Given the description of an element on the screen output the (x, y) to click on. 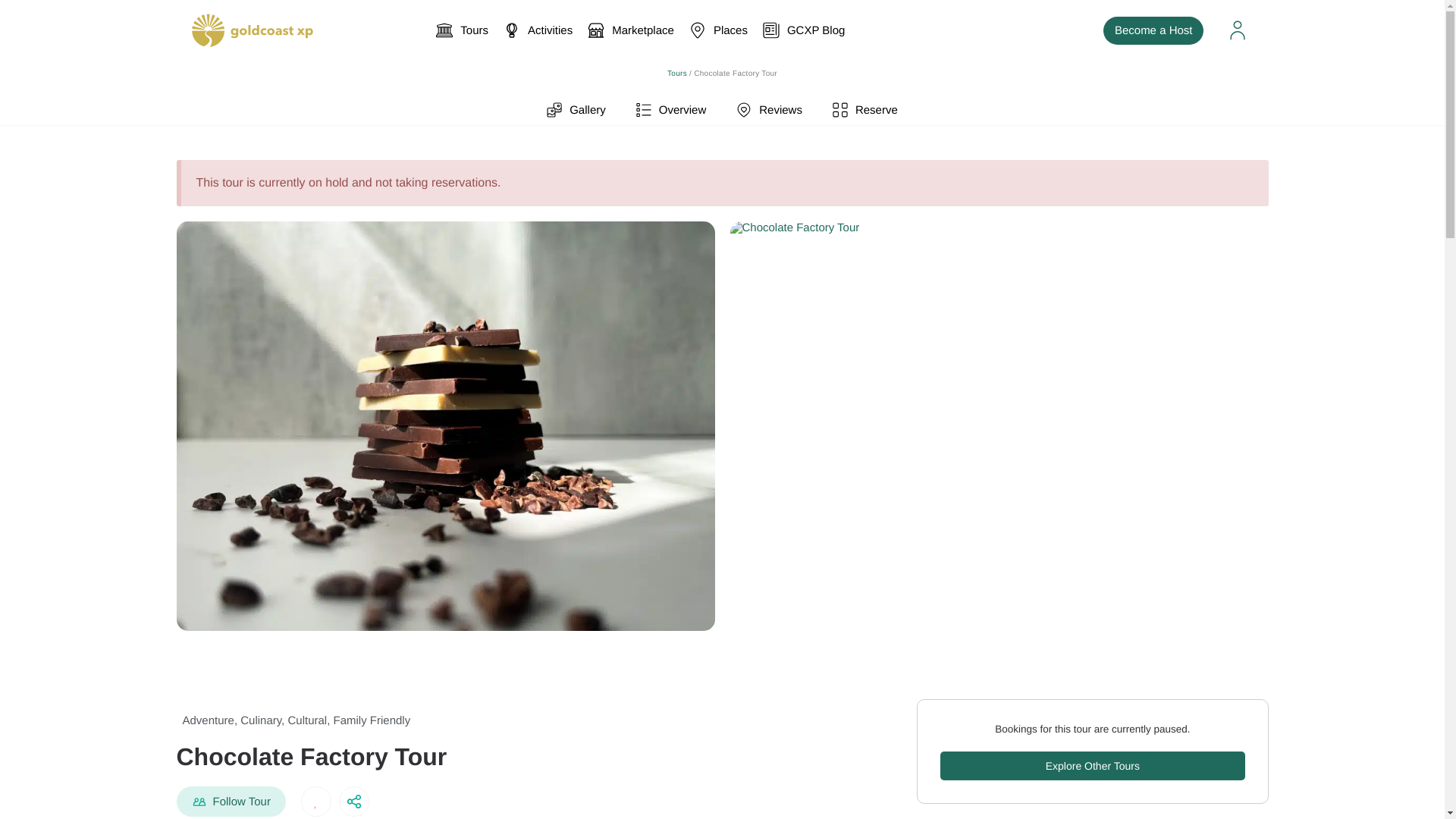
Activities (537, 30)
Gallery (647, 30)
Reviews (576, 110)
Overview (769, 110)
Tours (671, 110)
Reserve (676, 73)
Places (721, 110)
Tours (865, 110)
